Given the description of an element on the screen output the (x, y) to click on. 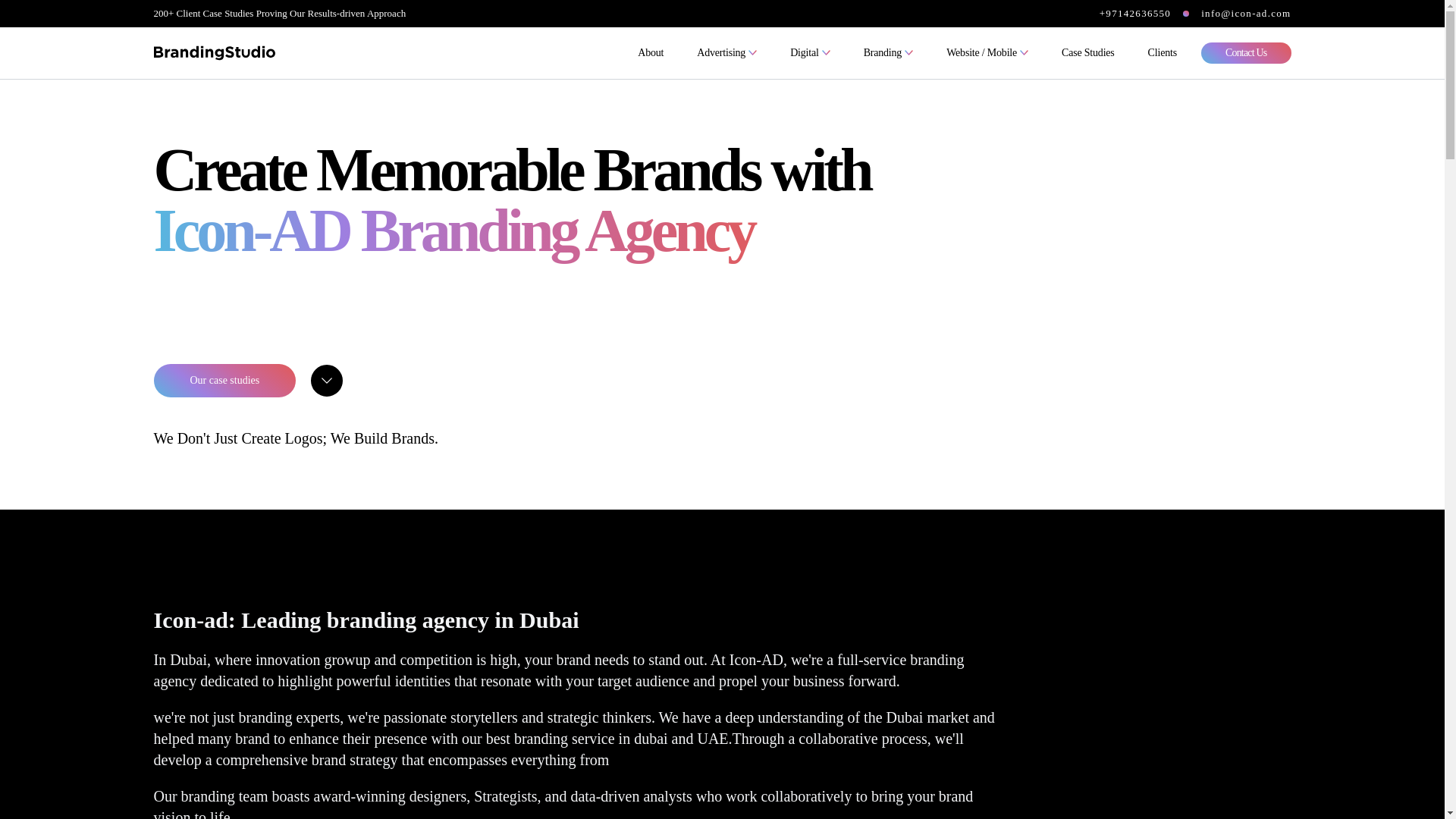
Our case studies (223, 380)
We Don't Just Create Logos; We Build Brands. (295, 438)
Contact Us (1246, 52)
Clients (1162, 52)
Case Studies (1088, 52)
About (650, 52)
